Given the description of an element on the screen output the (x, y) to click on. 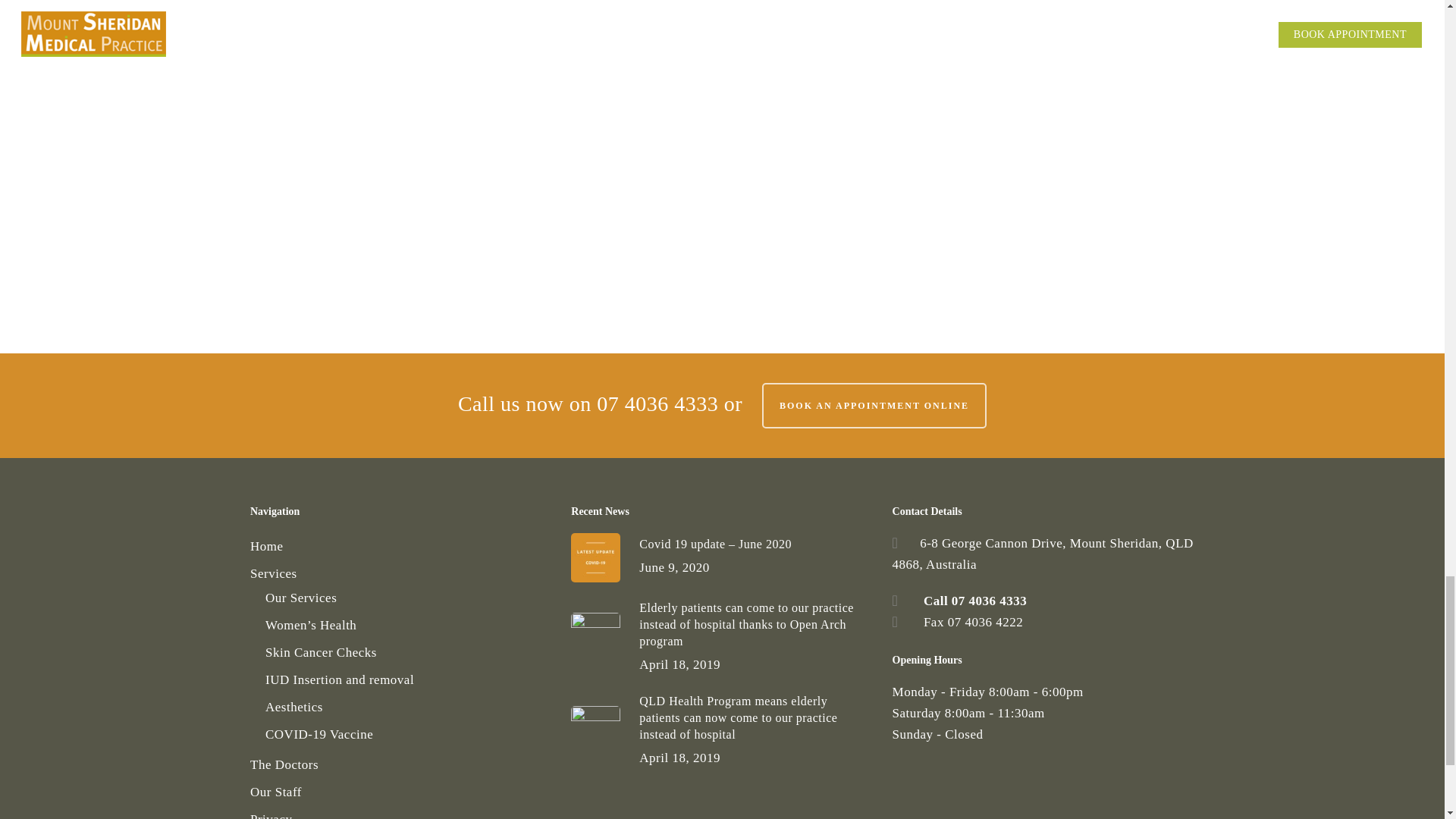
COVID-19 Vaccine (407, 734)
Privacy (400, 814)
Services (400, 573)
Our Services (407, 598)
Aesthetics (407, 707)
Skin Cancer Checks (407, 652)
IUD Insertion and removal (407, 680)
Home (400, 546)
The Doctors (400, 764)
Our Staff (400, 792)
BOOK AN APPOINTMENT ONLINE (874, 405)
